Given the description of an element on the screen output the (x, y) to click on. 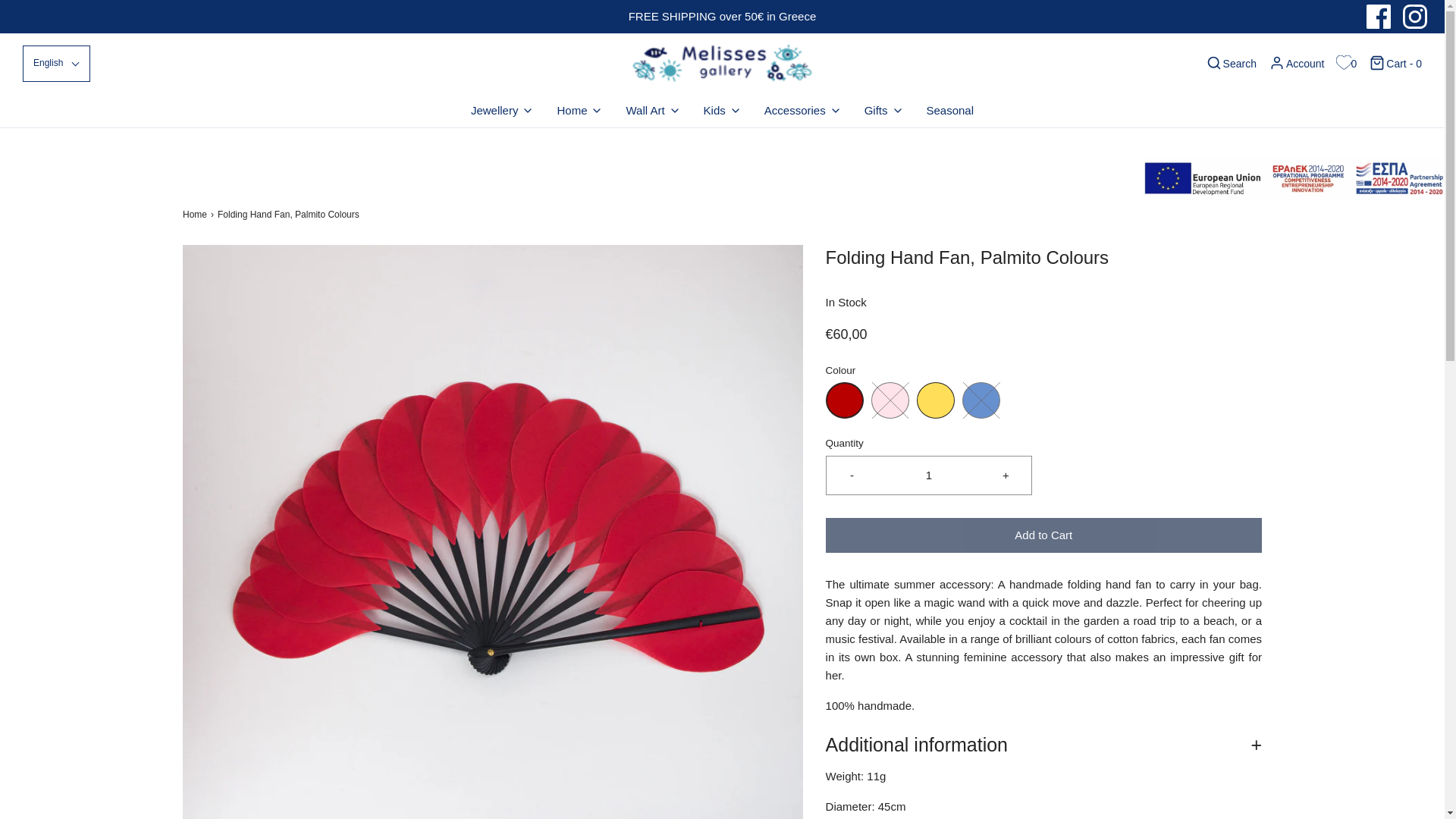
Cart - 0 (1395, 63)
1 (928, 475)
Search (1230, 63)
Instagram icon (1414, 16)
Wall Art (652, 110)
English (56, 63)
Jewellery (502, 110)
0 (1346, 63)
Facebook icon (1378, 16)
Account (1296, 63)
Cart (1395, 63)
Kids (722, 110)
Instagram icon (1414, 16)
Gifts (884, 110)
Log in (1296, 63)
